Given the description of an element on the screen output the (x, y) to click on. 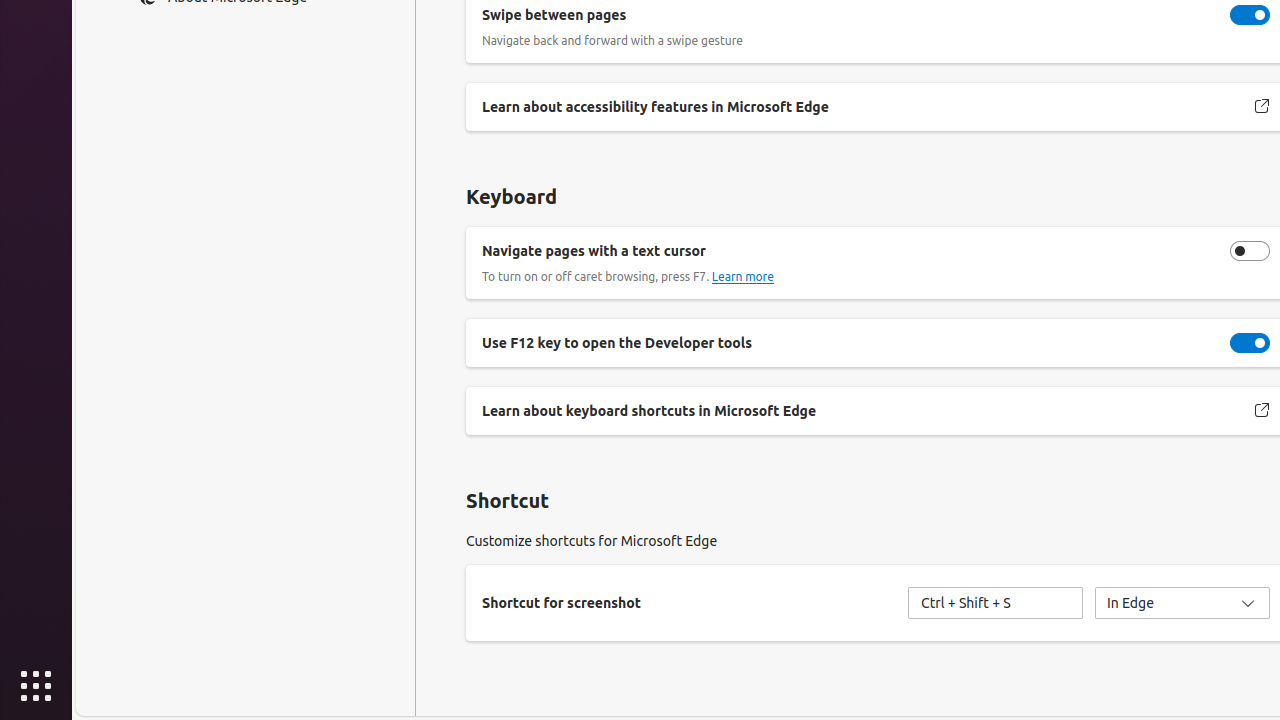
Learn about accessibility features in Microsoft Edge Element type: push-button (1262, 107)
Scope of $1 for $2 In Edge Element type: push-button (1182, 602)
Show Applications Element type: toggle-button (36, 686)
Navigate pages with a text cursor Element type: check-box (1250, 250)
Learn about keyboard shortcuts in Microsoft Edge Element type: push-button (1262, 410)
